Given the description of an element on the screen output the (x, y) to click on. 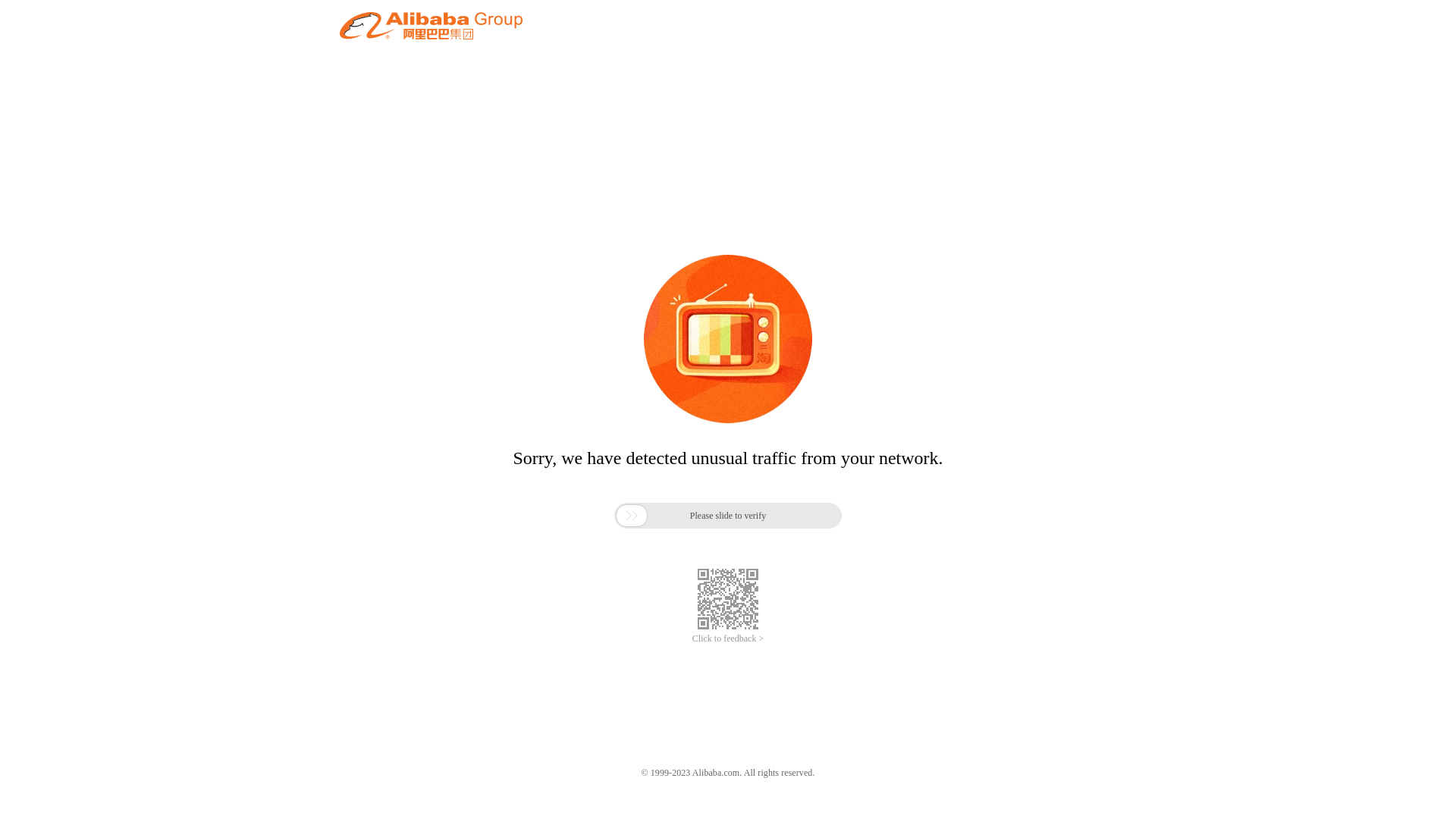
Click to feedback > Element type: text (727, 638)
